Given the description of an element on the screen output the (x, y) to click on. 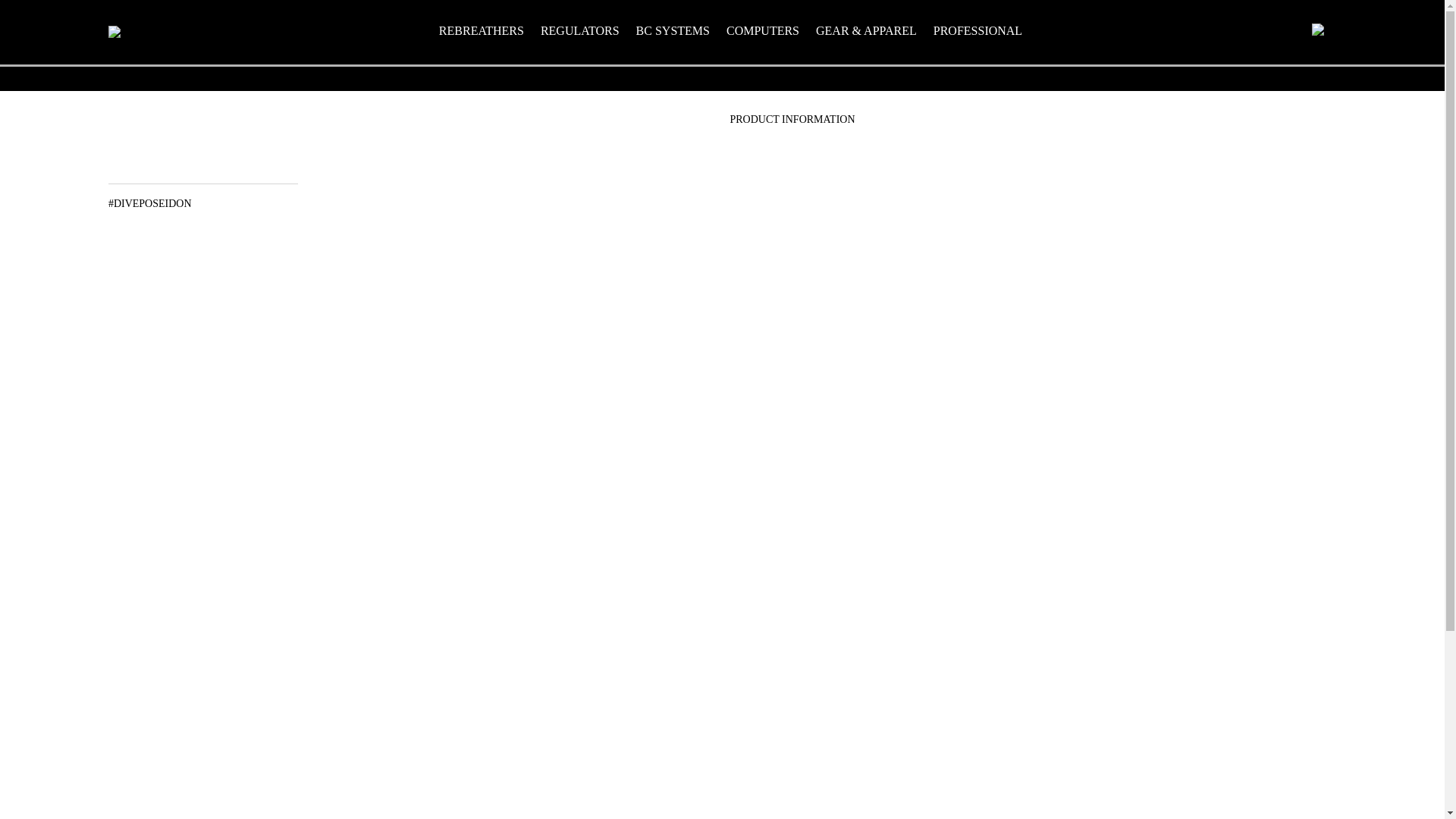
PROFESSIONAL (977, 30)
BC SYSTEMS (673, 30)
COMPUTERS (762, 30)
REGULATORS (580, 30)
